Given the description of an element on the screen output the (x, y) to click on. 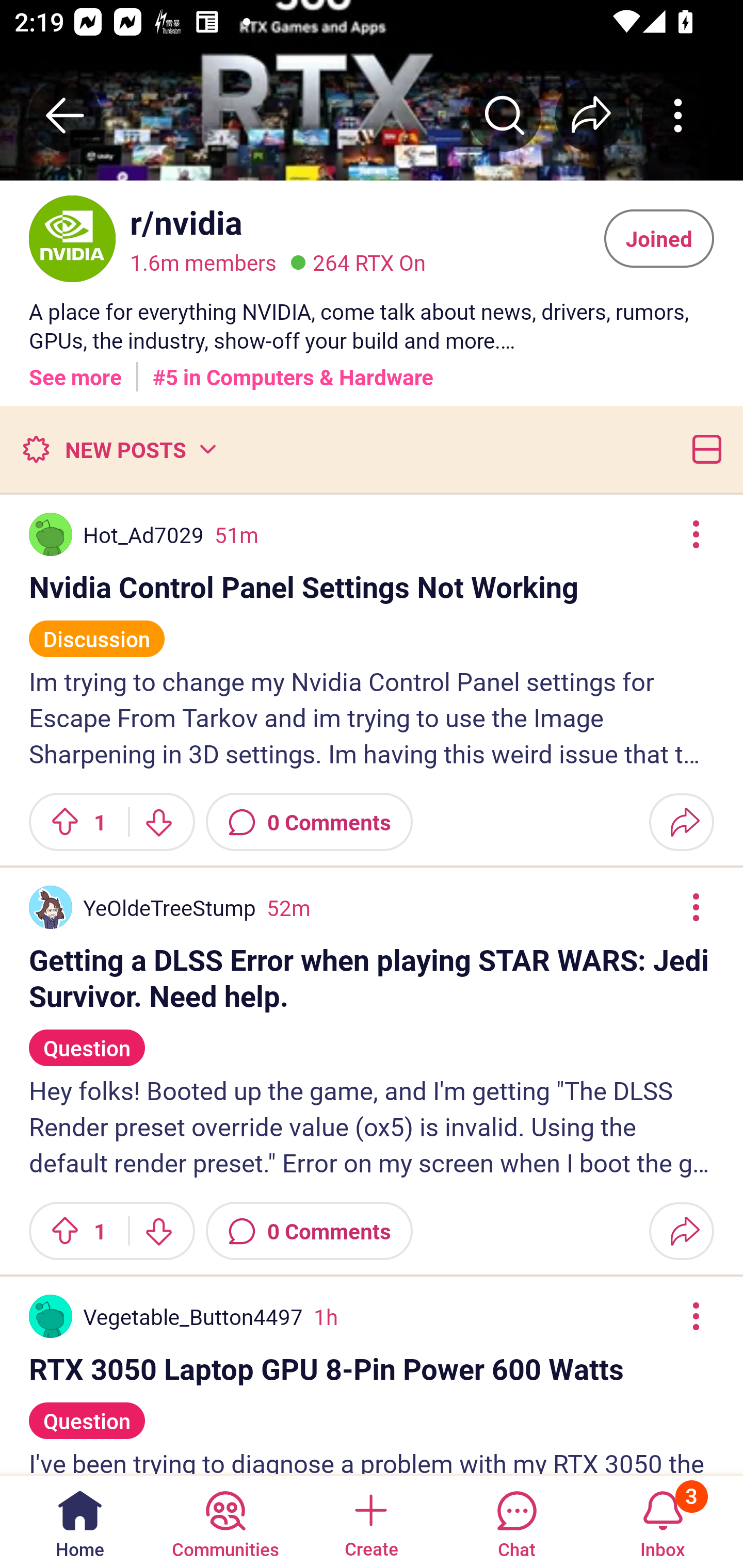
Back (64, 115)
Search r/﻿nvidia (504, 115)
Share r/﻿nvidia (591, 115)
More community actions (677, 115)
New posts NEW POSTS (118, 449)
Card (703, 449)
Discussion (96, 629)
Question (86, 1039)
Question (86, 1411)
Home (80, 1520)
Communities (225, 1520)
Create a post Create (370, 1520)
Chat (516, 1520)
Inbox, has 3 notifications 3 Inbox (662, 1520)
